Given the description of an element on the screen output the (x, y) to click on. 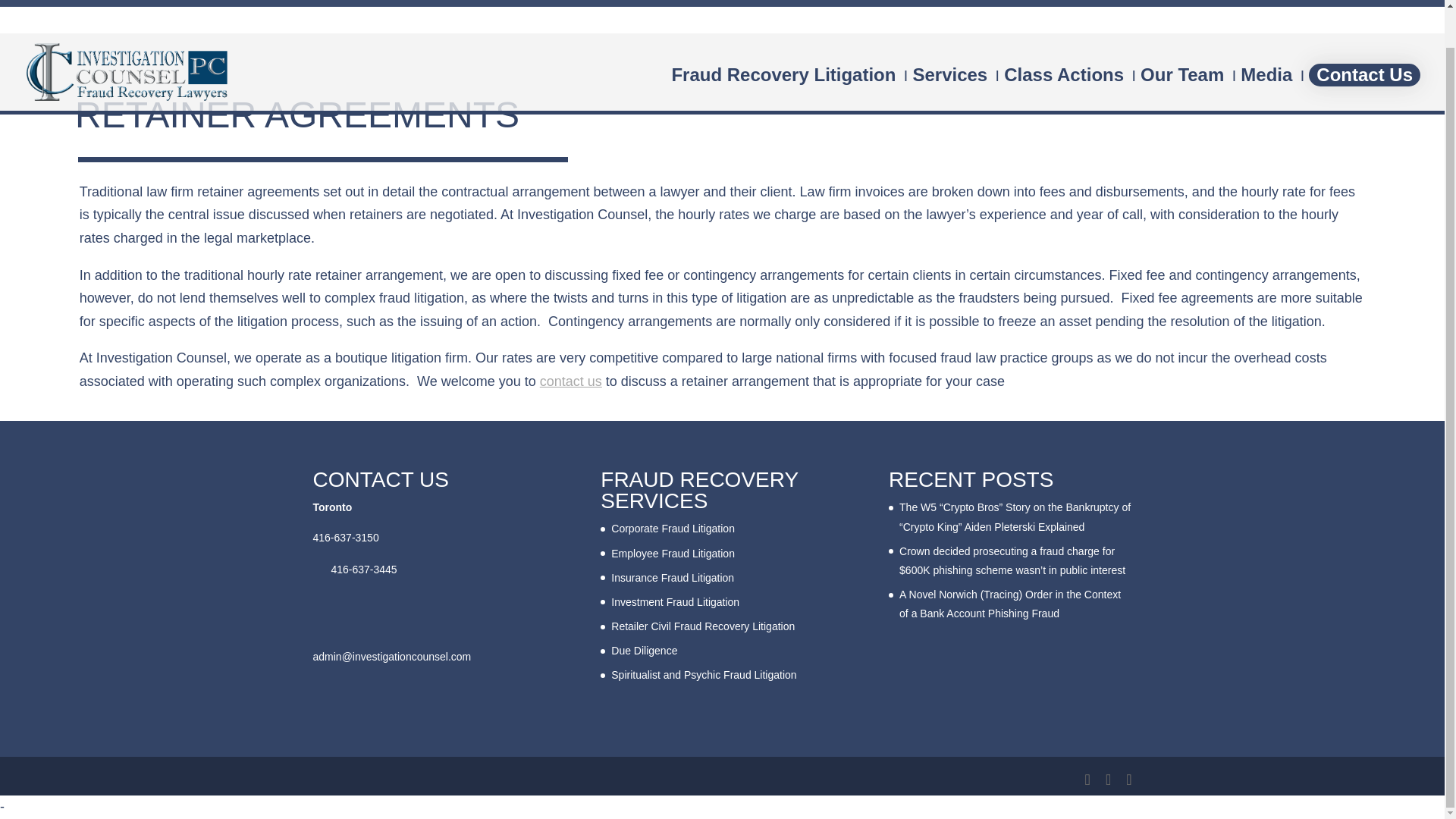
Fraud Recovery Litigation (783, 50)
Contact Investigation Counsel  (571, 381)
Services (949, 50)
Class Actions (1064, 50)
